Given the description of an element on the screen output the (x, y) to click on. 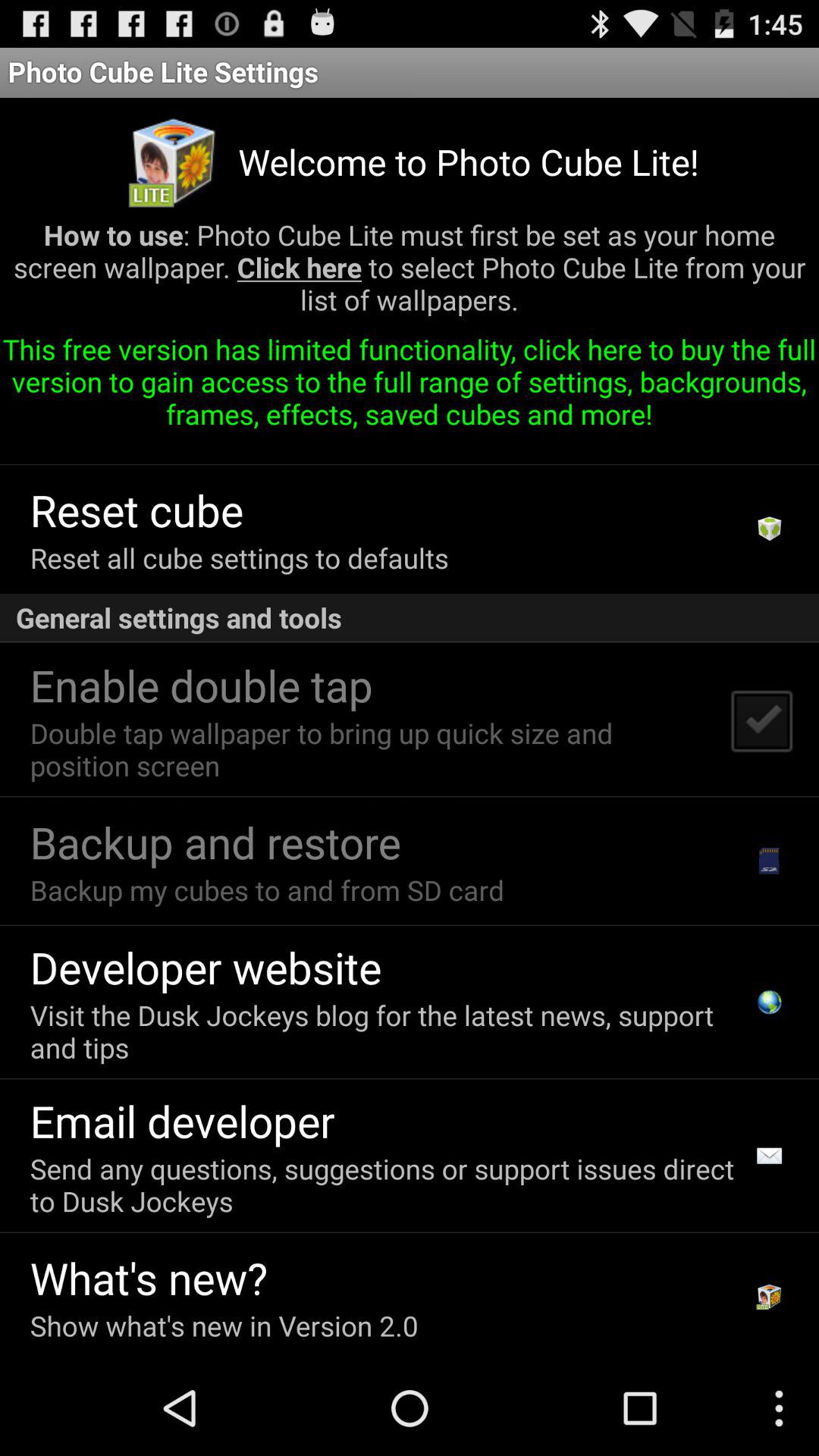
turn on the icon below email developer item (386, 1184)
